Given the description of an element on the screen output the (x, y) to click on. 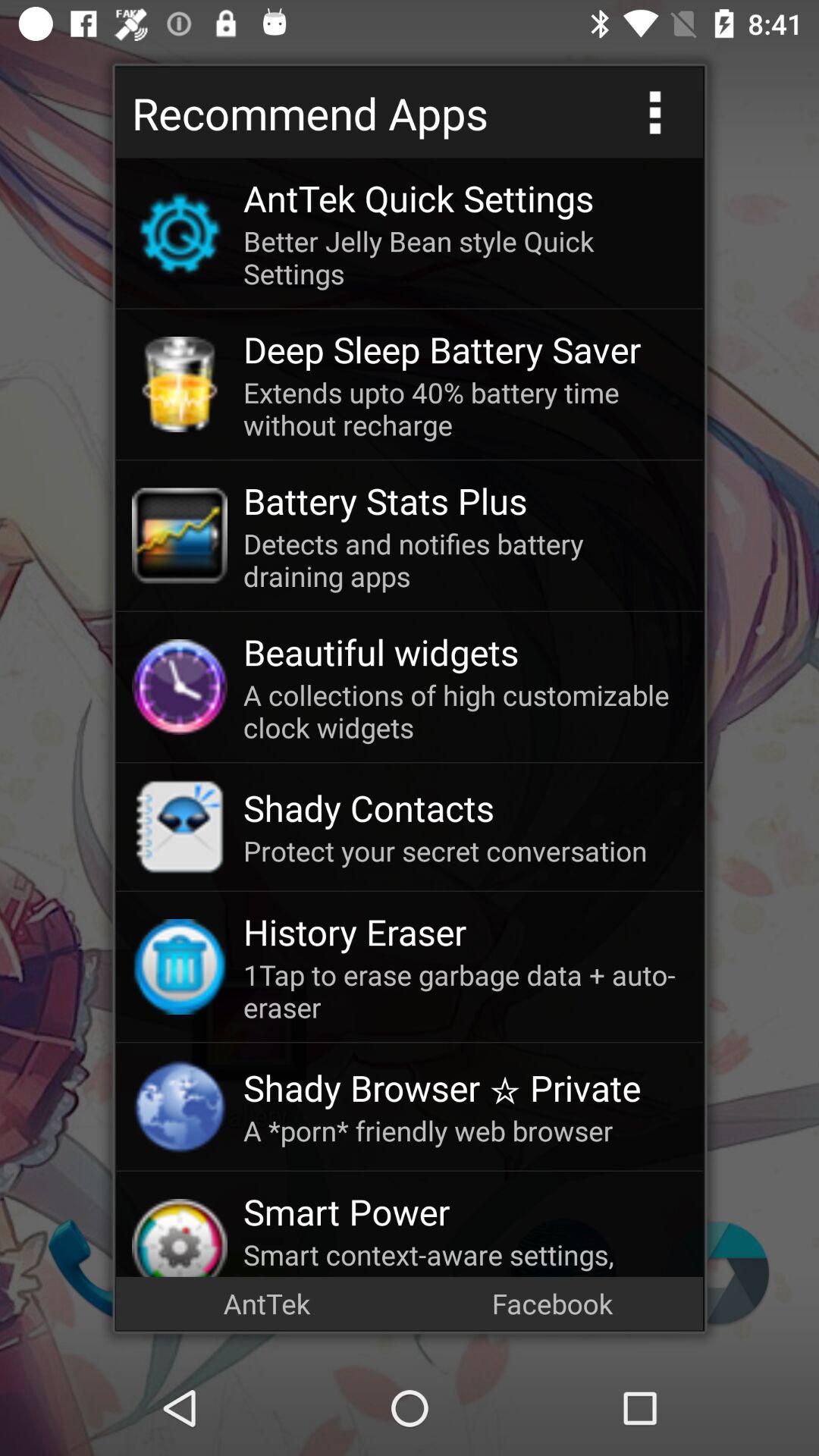
launch icon above the history eraser app (465, 850)
